Given the description of an element on the screen output the (x, y) to click on. 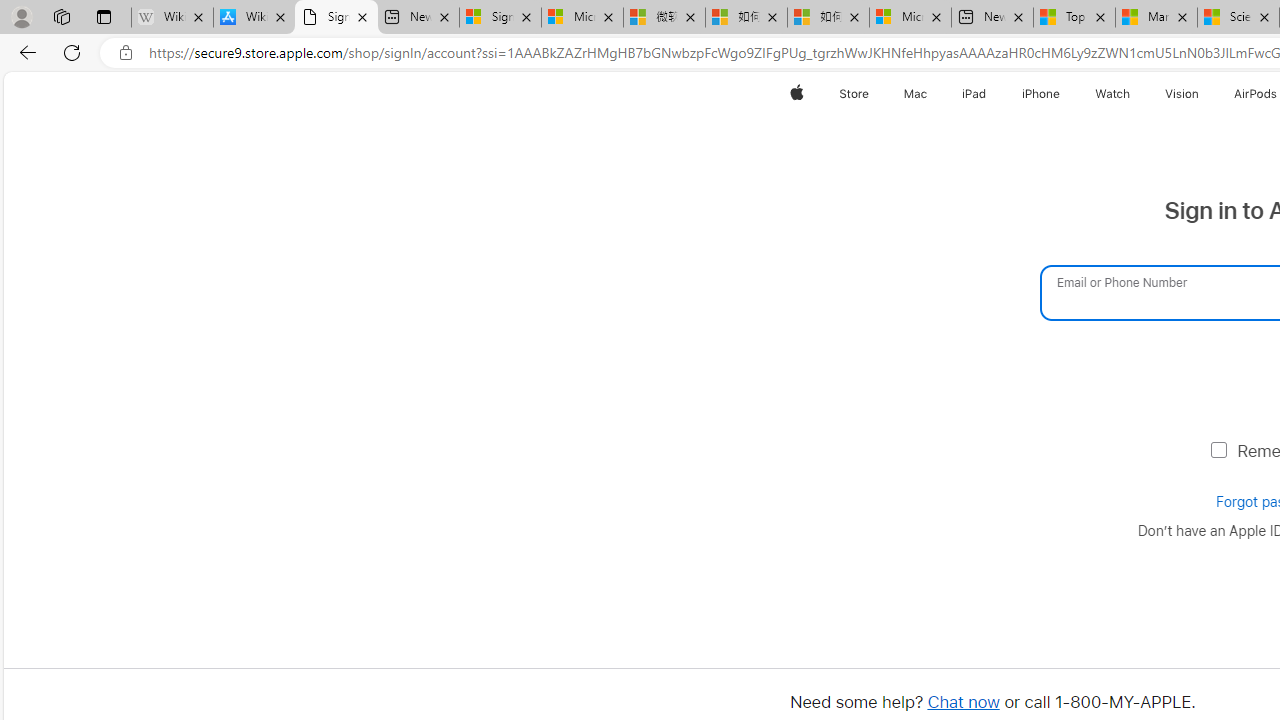
Remember me (1218, 448)
Vision (1181, 93)
Apple (796, 93)
Apple (796, 93)
